Given the description of an element on the screen output the (x, y) to click on. 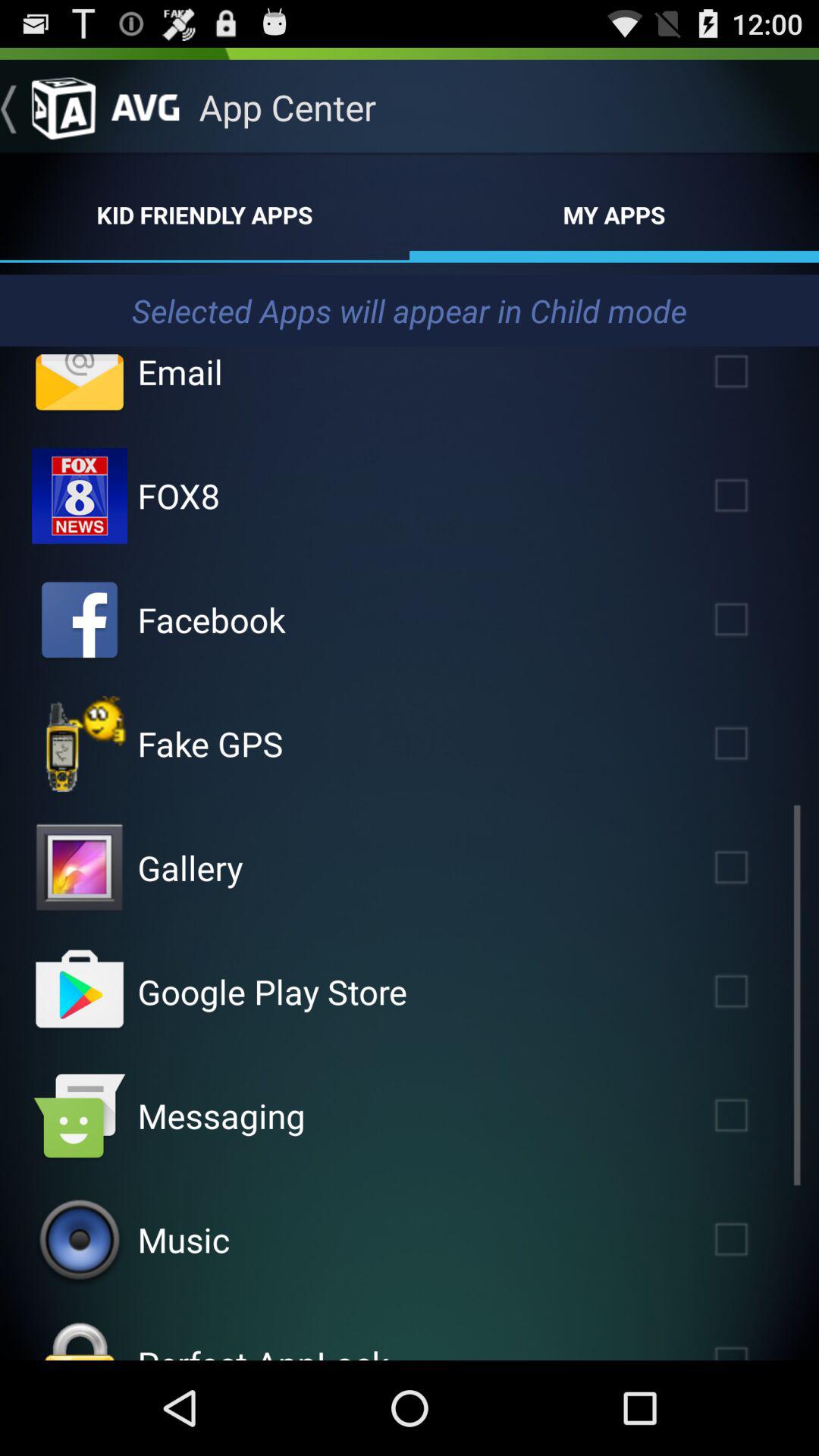
select app (753, 991)
